Given the description of an element on the screen output the (x, y) to click on. 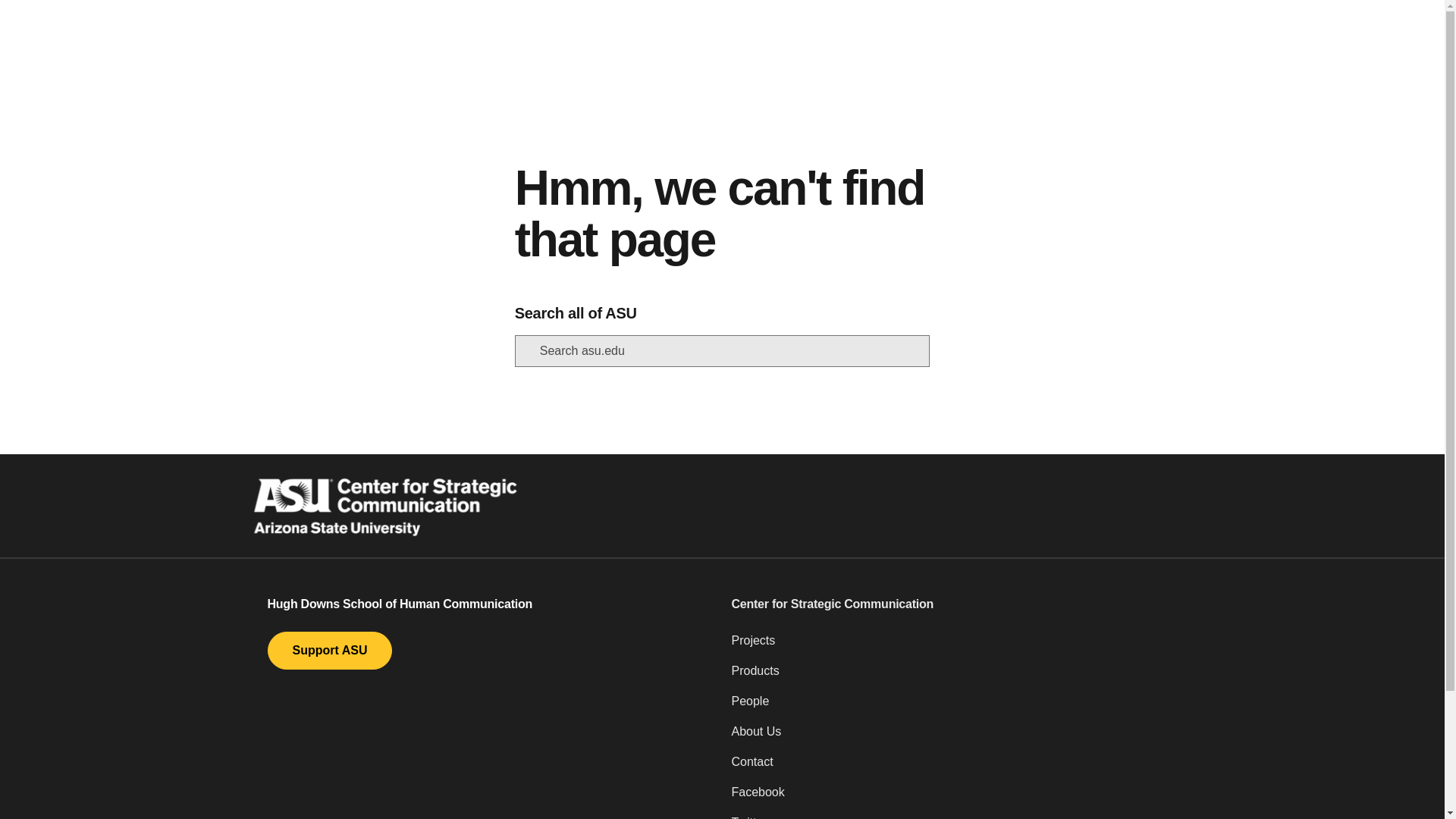
Projects (953, 646)
About Us (953, 737)
Contact (953, 767)
Center for Strategic Communication (953, 604)
People (953, 707)
Support ASU (328, 650)
Facebook (953, 798)
Products (953, 676)
